Given the description of an element on the screen output the (x, y) to click on. 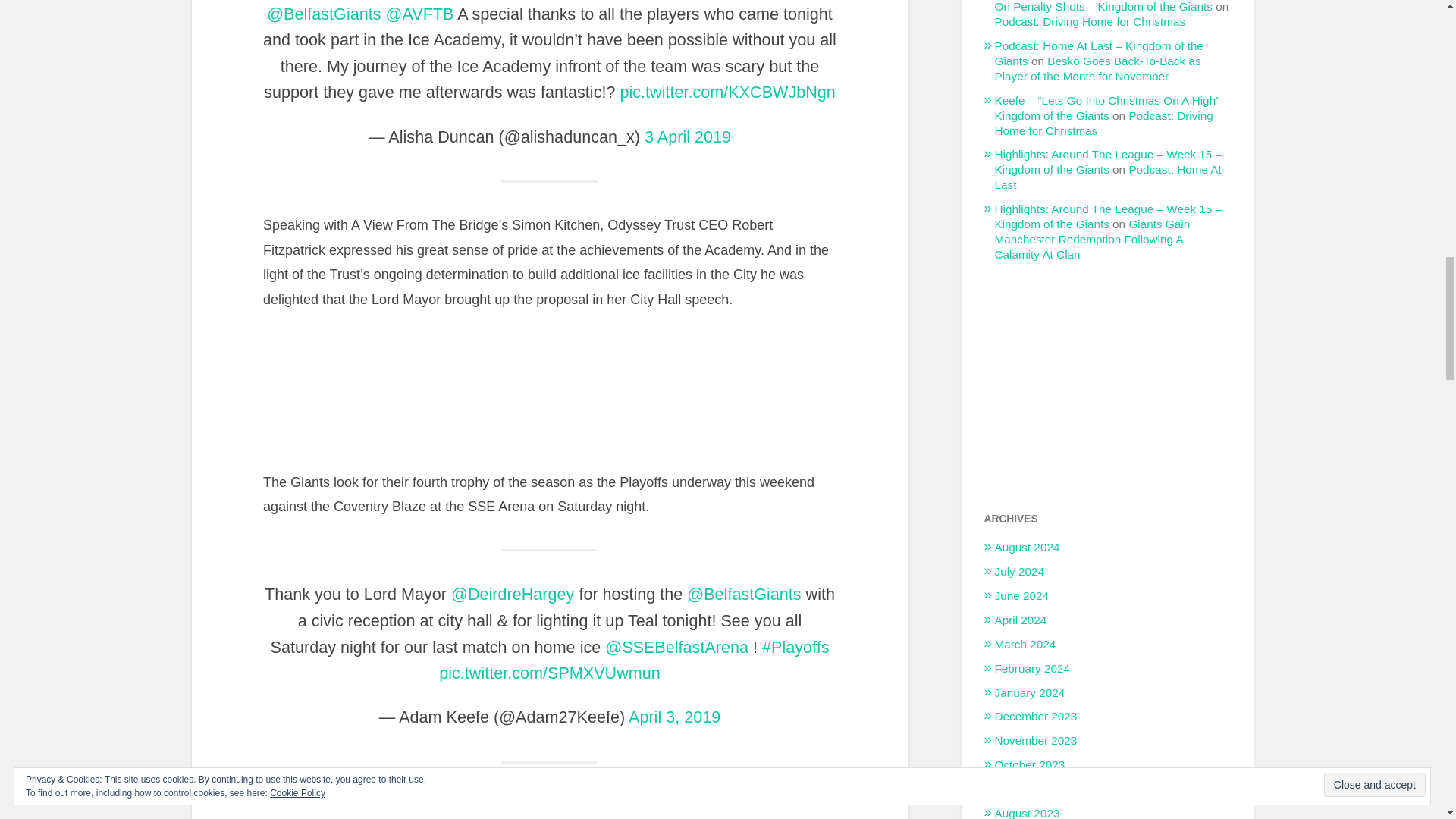
April 3, 2019 (674, 716)
Advertisement (1107, 364)
3 April 2019 (687, 136)
